Given the description of an element on the screen output the (x, y) to click on. 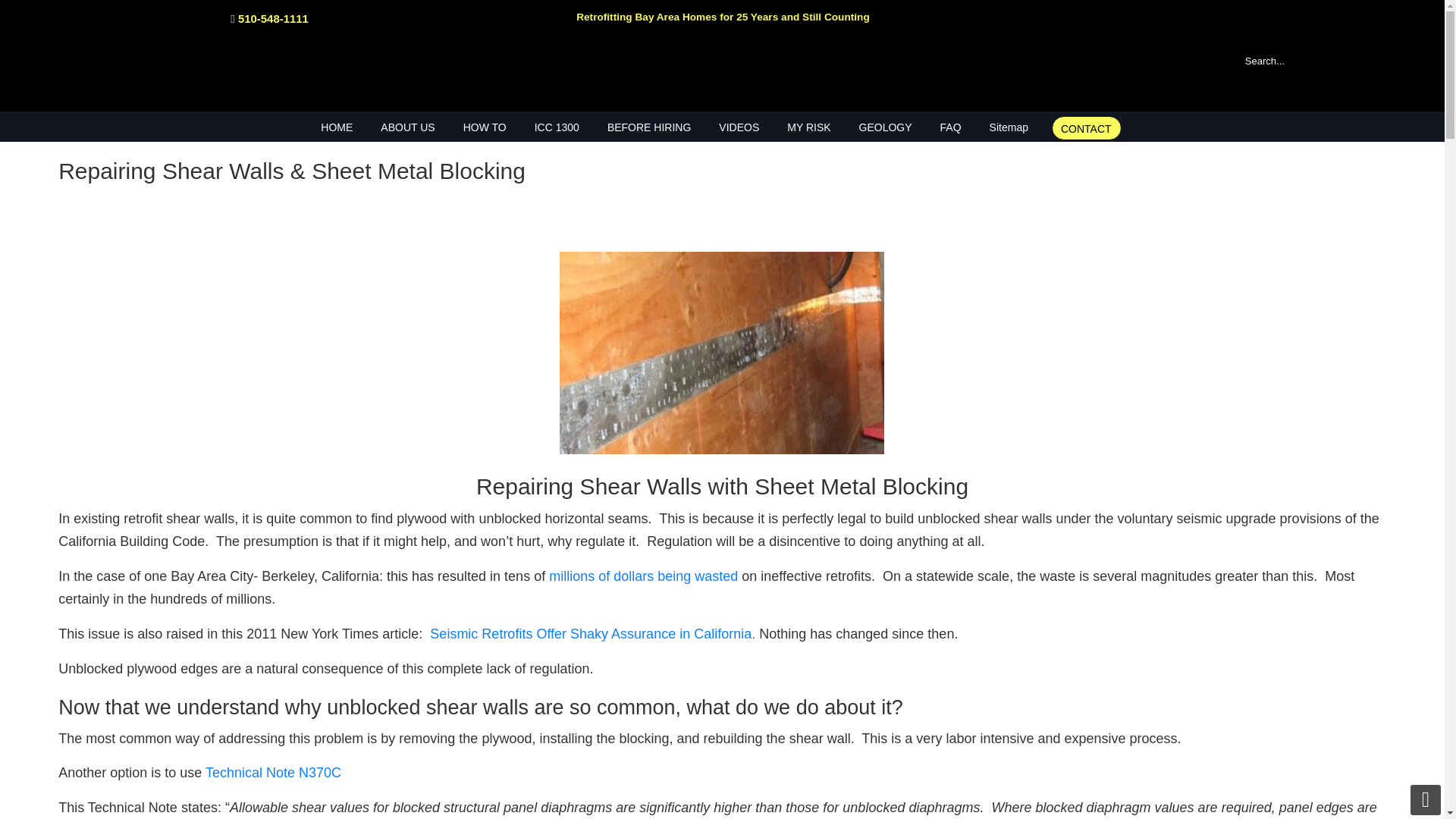
search (1370, 60)
510-548-1111 (273, 18)
Bay Area Retrofit (720, 75)
Search... (1294, 60)
HOME (336, 127)
HOW TO (484, 127)
Bay Area Retrofit (720, 75)
ABOUT US (407, 127)
search (1370, 60)
search (1370, 60)
